Given the description of an element on the screen output the (x, y) to click on. 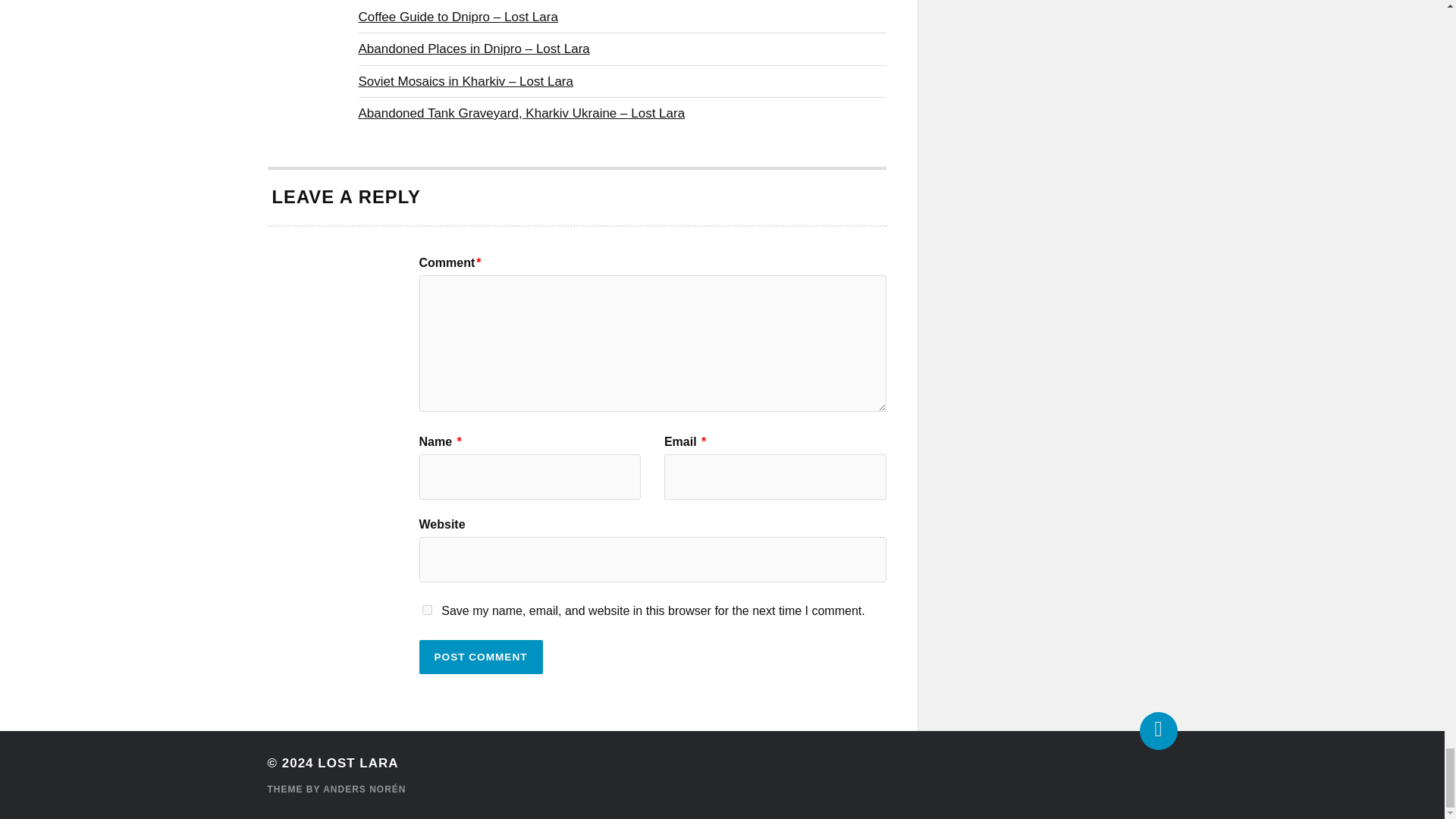
Post Comment (480, 656)
yes (426, 610)
